Given the description of an element on the screen output the (x, y) to click on. 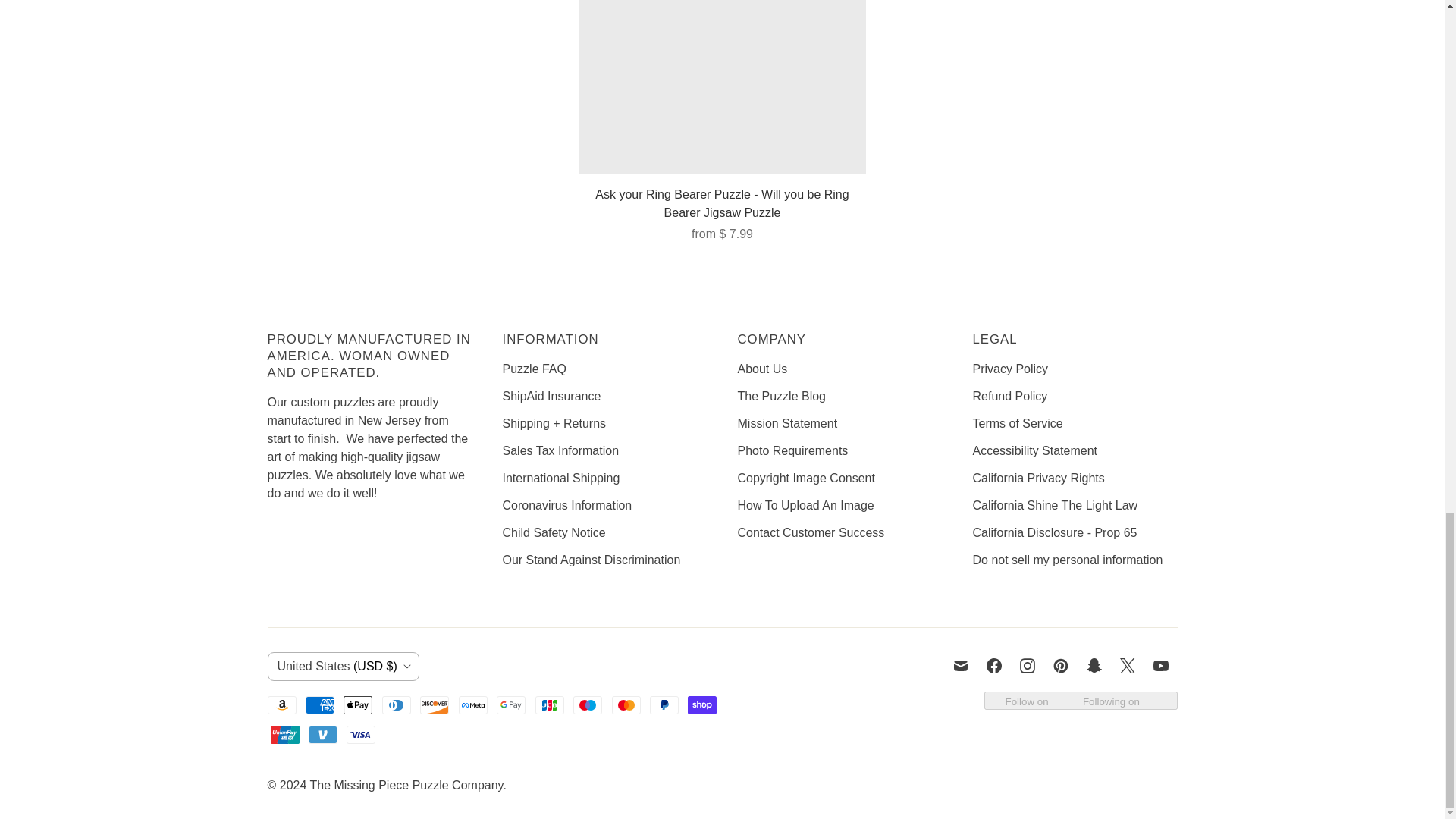
American Express (319, 705)
Meta Pay (472, 705)
Apple Pay (357, 705)
Discover (434, 705)
Amazon (280, 705)
Diners Club (395, 705)
